Given the description of an element on the screen output the (x, y) to click on. 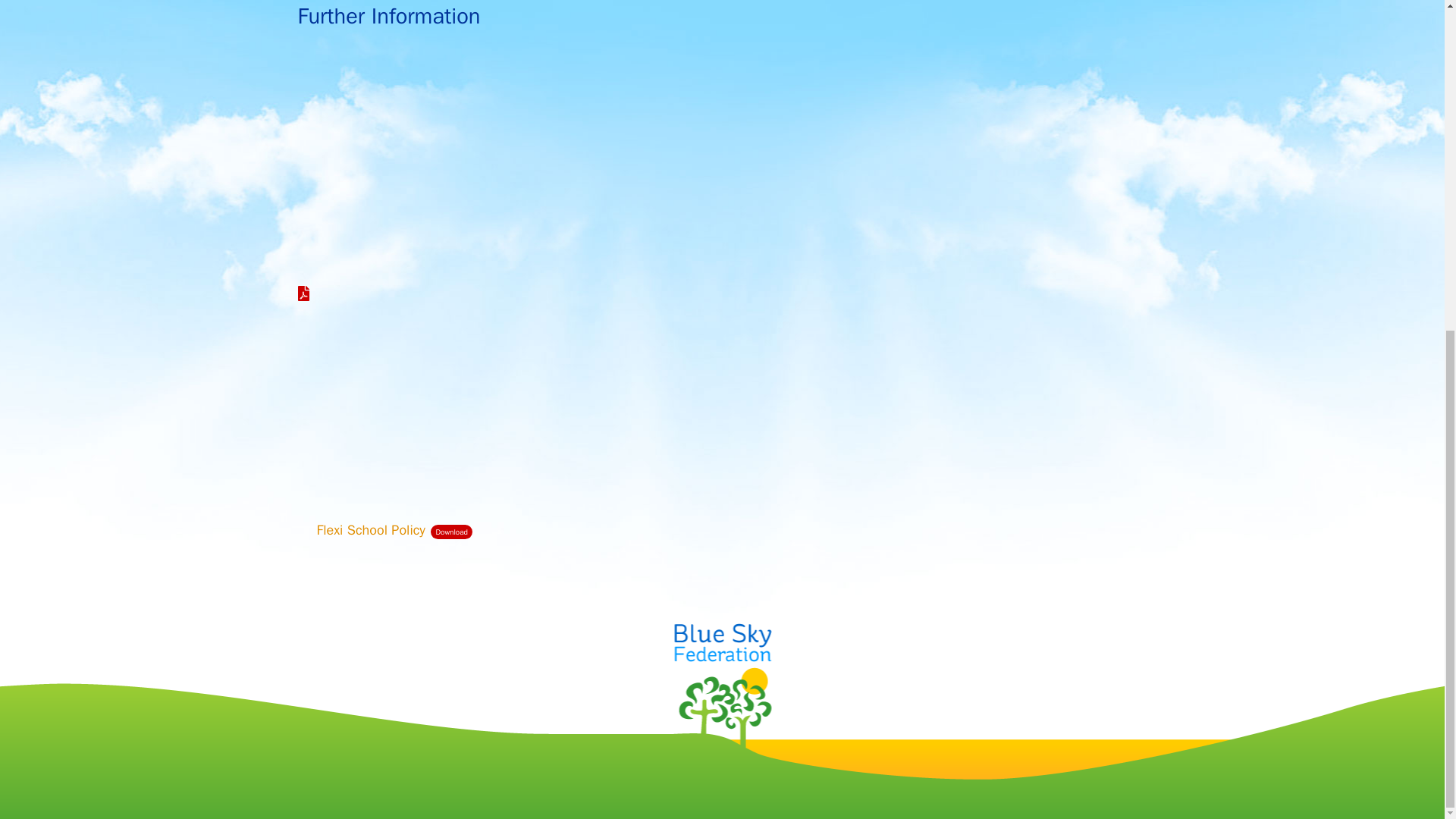
Download (450, 531)
Flexi School Policy (371, 529)
